Given the description of an element on the screen output the (x, y) to click on. 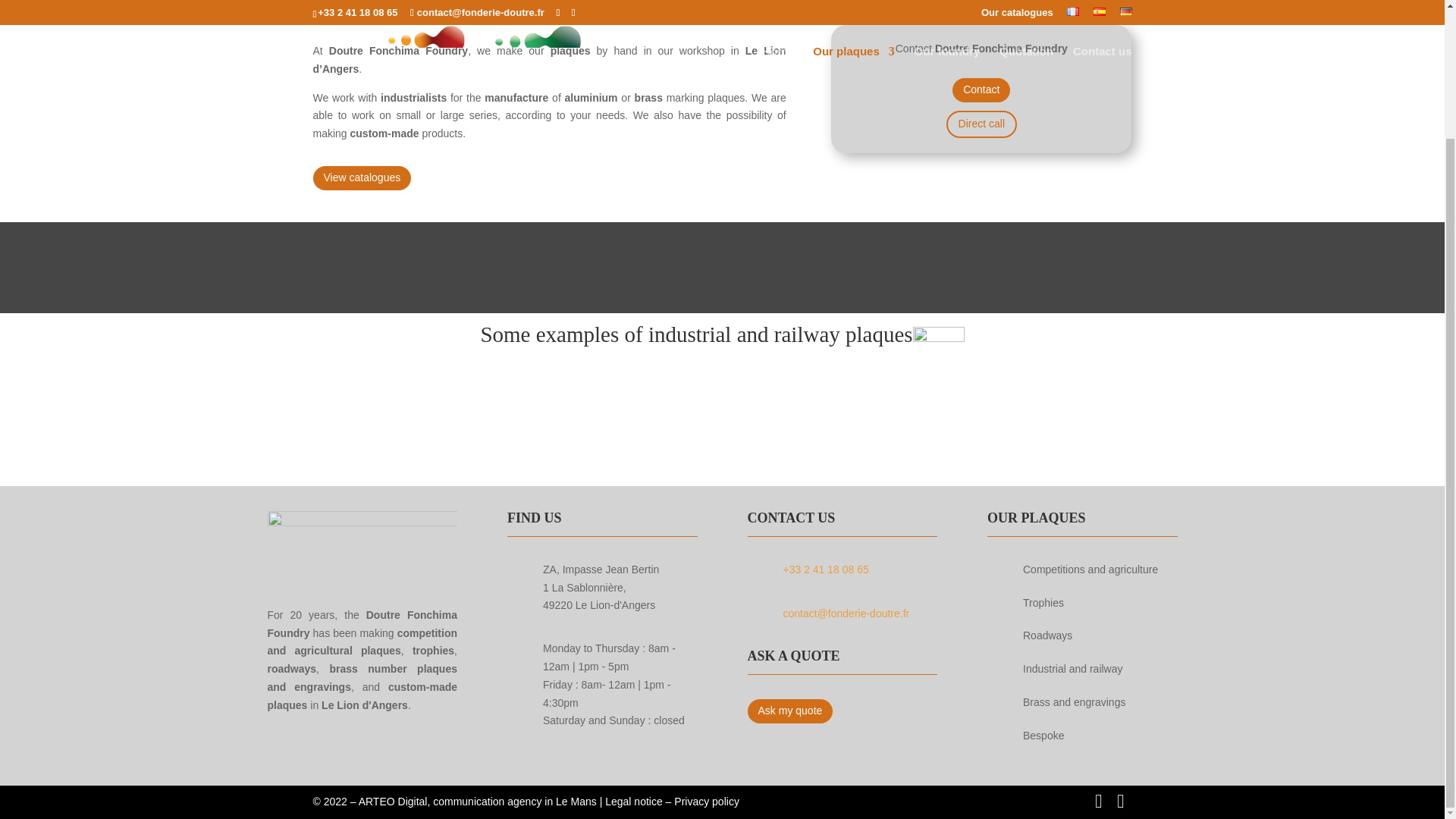
Ask my quote (790, 711)
ARTEO Digital, communication agency in Le Mans (478, 801)
View catalogues (361, 178)
logo-fonderie-doutre (361, 543)
Direct call (981, 124)
Privacy policy (706, 801)
Contact (981, 89)
Legal notice (633, 801)
